Given the description of an element on the screen output the (x, y) to click on. 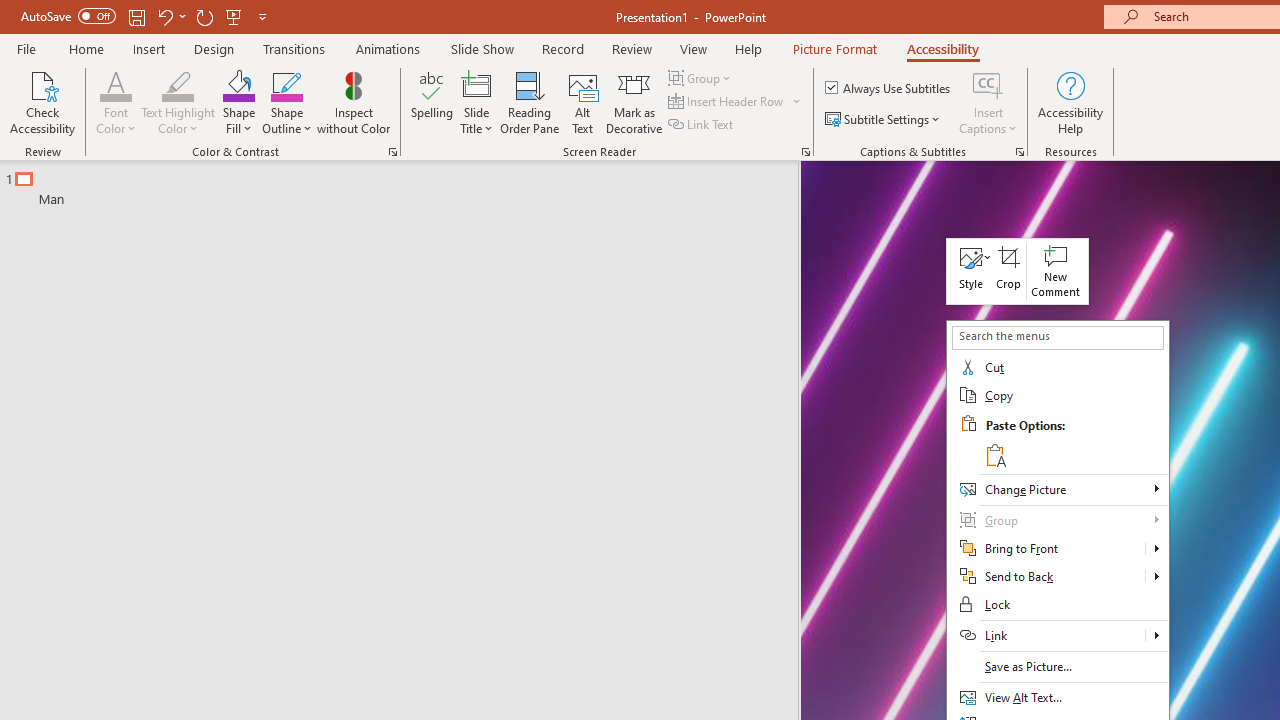
Style (970, 270)
Keep Text Only (994, 454)
Accessibility Help (1070, 102)
Bring to Front (1057, 548)
Save as Picture... (1057, 667)
Picture Format (834, 48)
Send to Back (1156, 577)
